Given the description of an element on the screen output the (x, y) to click on. 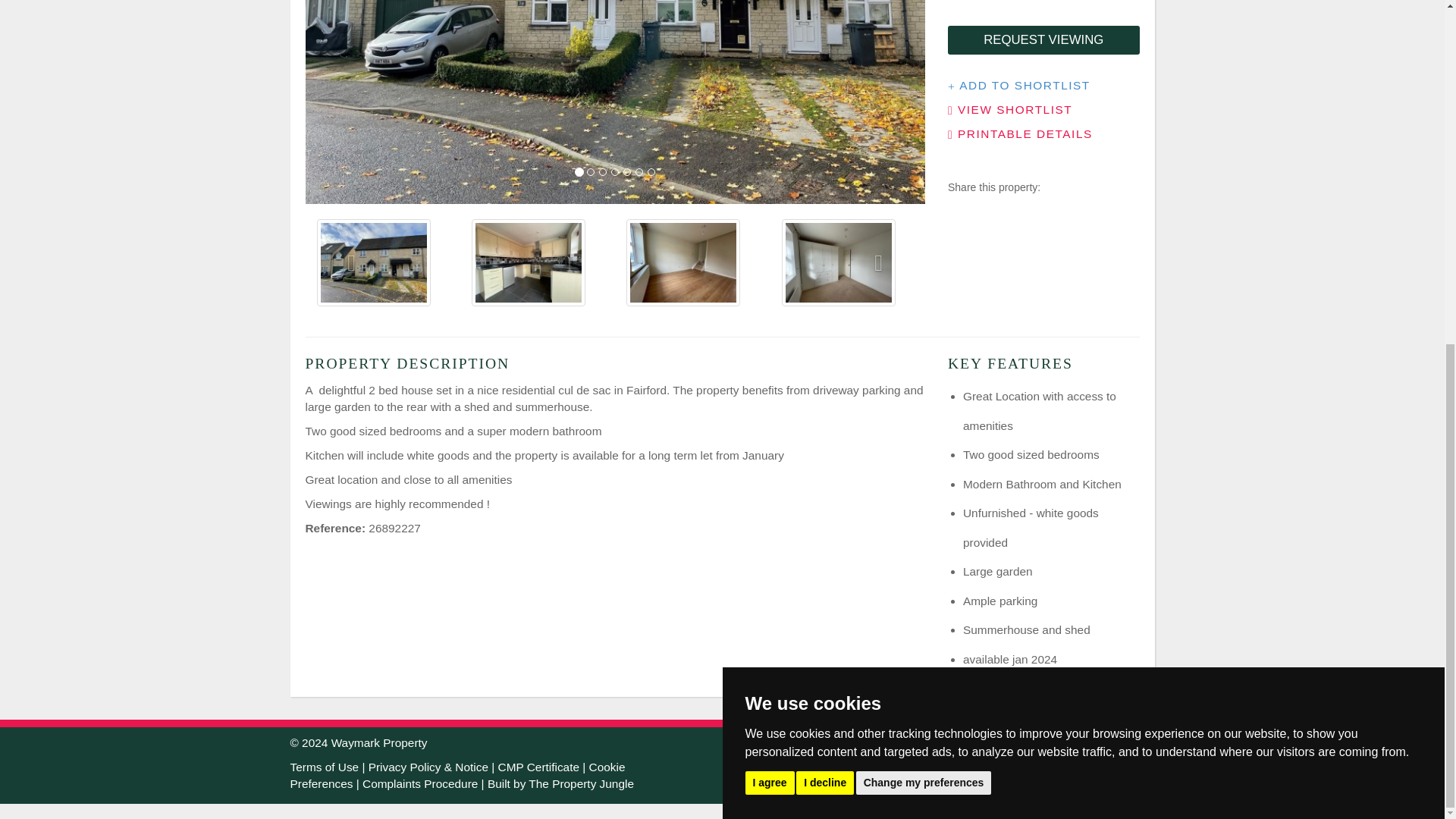
Change my preferences (923, 194)
I agree (768, 194)
I decline (824, 194)
